Given the description of an element on the screen output the (x, y) to click on. 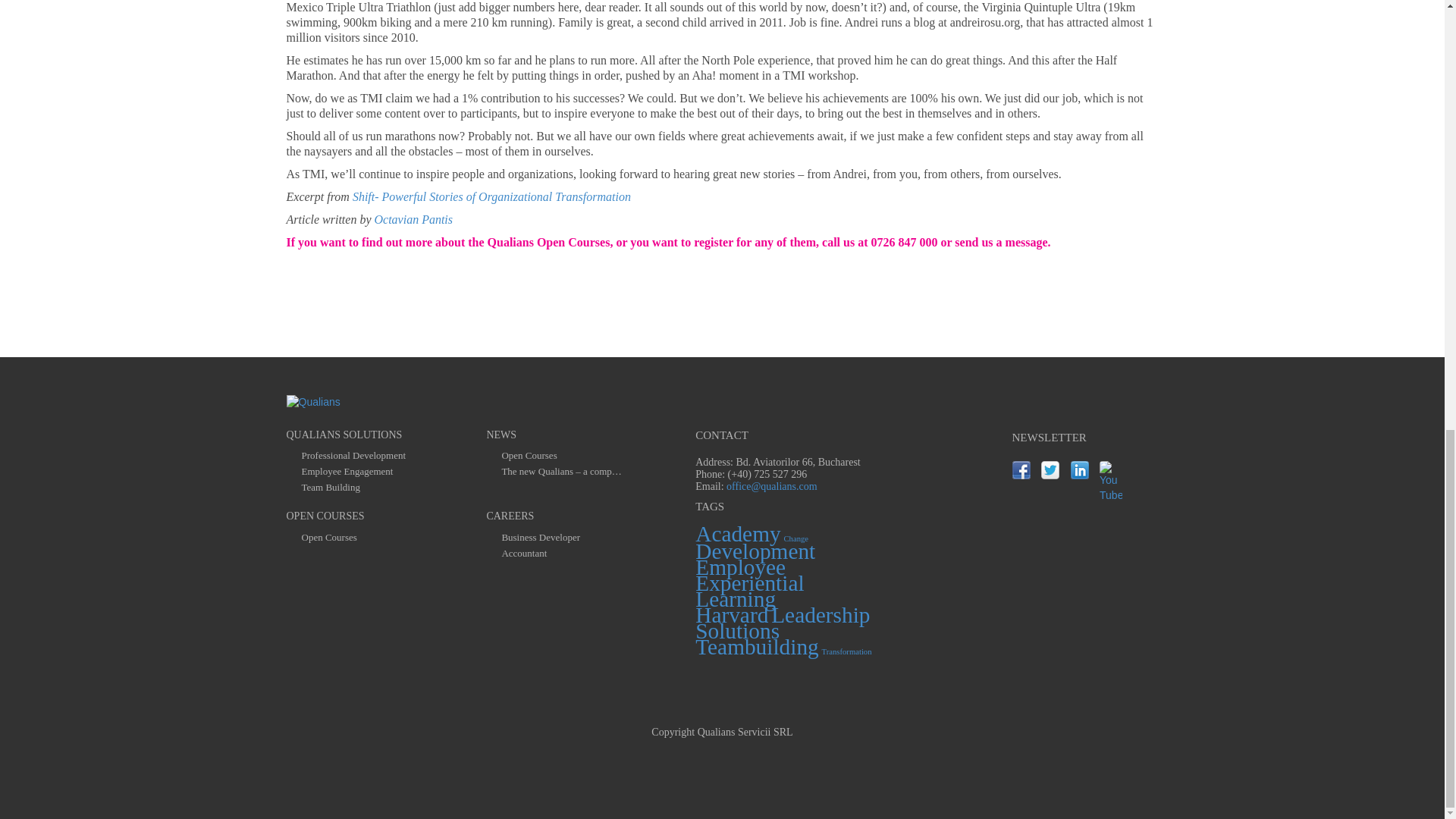
Employee Engagement (347, 471)
Octavian Pantis (413, 219)
NEWS (501, 434)
Shift- Powerful Stories of Organizational Transformation (491, 196)
Open Courses (528, 455)
Experiential Learning (749, 590)
Development (755, 550)
Qualians Open Courses (548, 241)
Leadership (820, 614)
Harvard (731, 614)
Accountant (523, 553)
Academy (737, 533)
Employee (740, 567)
OPEN COURSES (325, 515)
Transformation (847, 651)
